Given the description of an element on the screen output the (x, y) to click on. 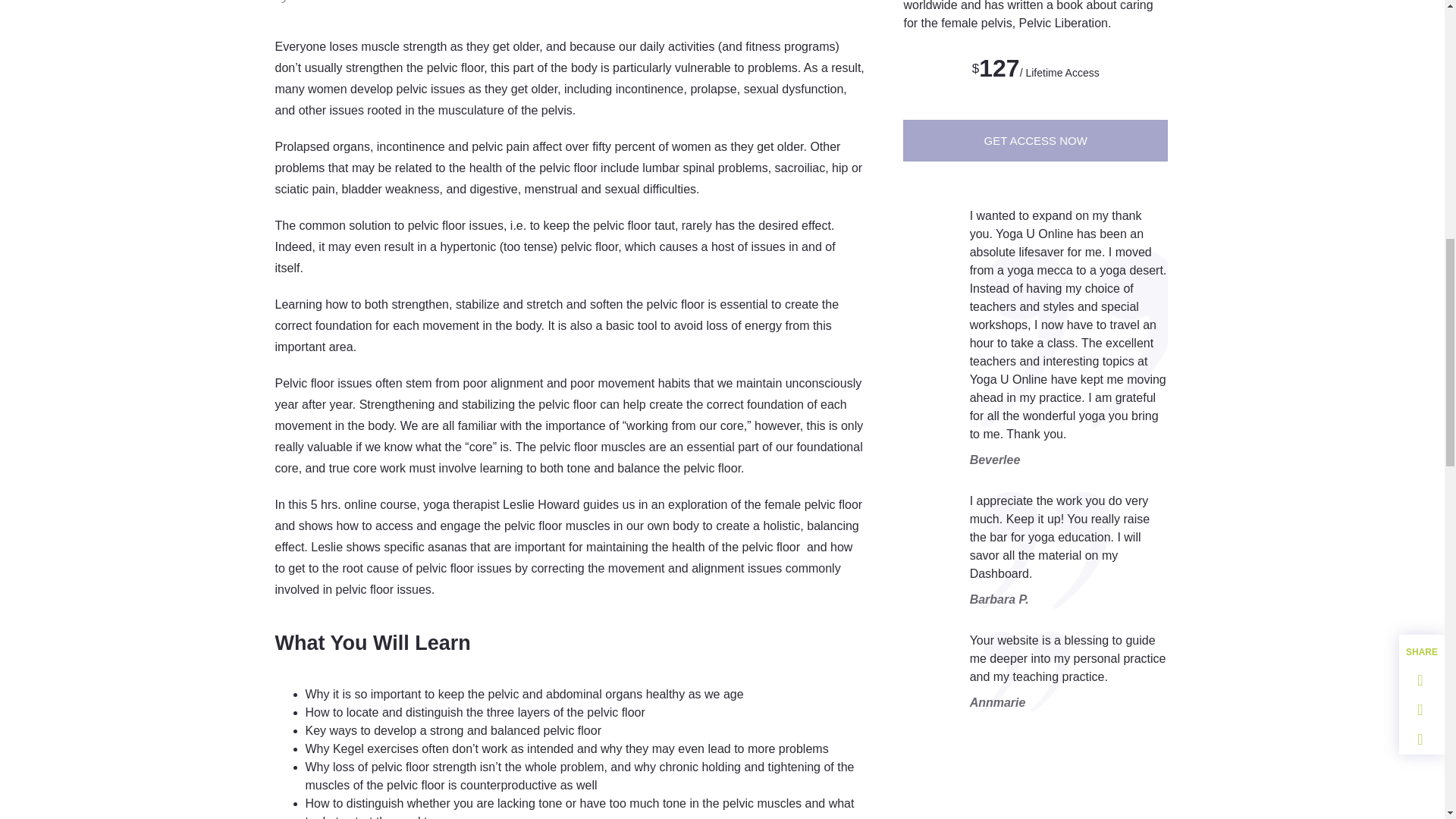
by Leslie Howard (326, 2)
GET ACCESS NOW (1034, 140)
